Given the description of an element on the screen output the (x, y) to click on. 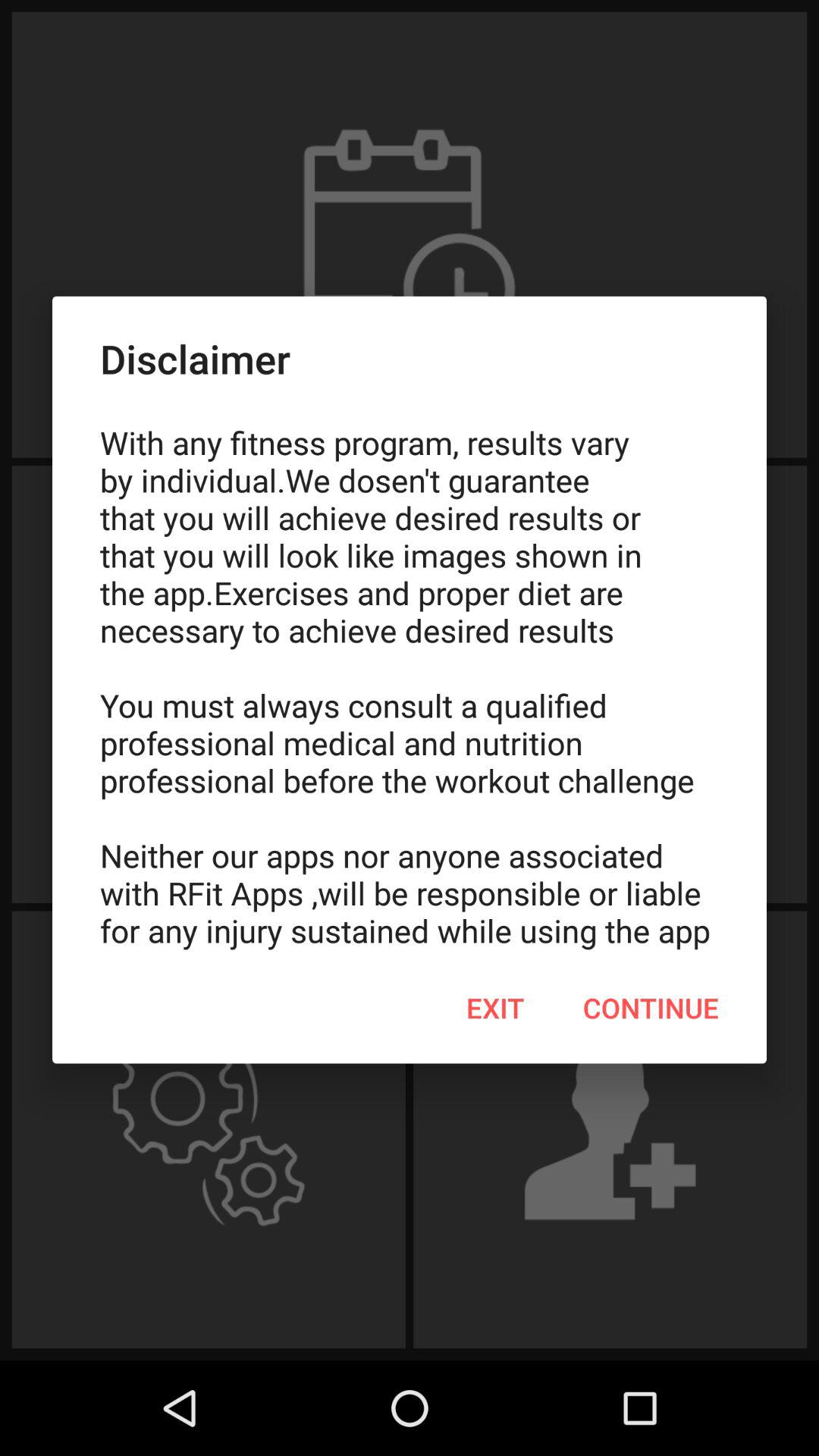
turn off item next to exit icon (650, 1007)
